Given the description of an element on the screen output the (x, y) to click on. 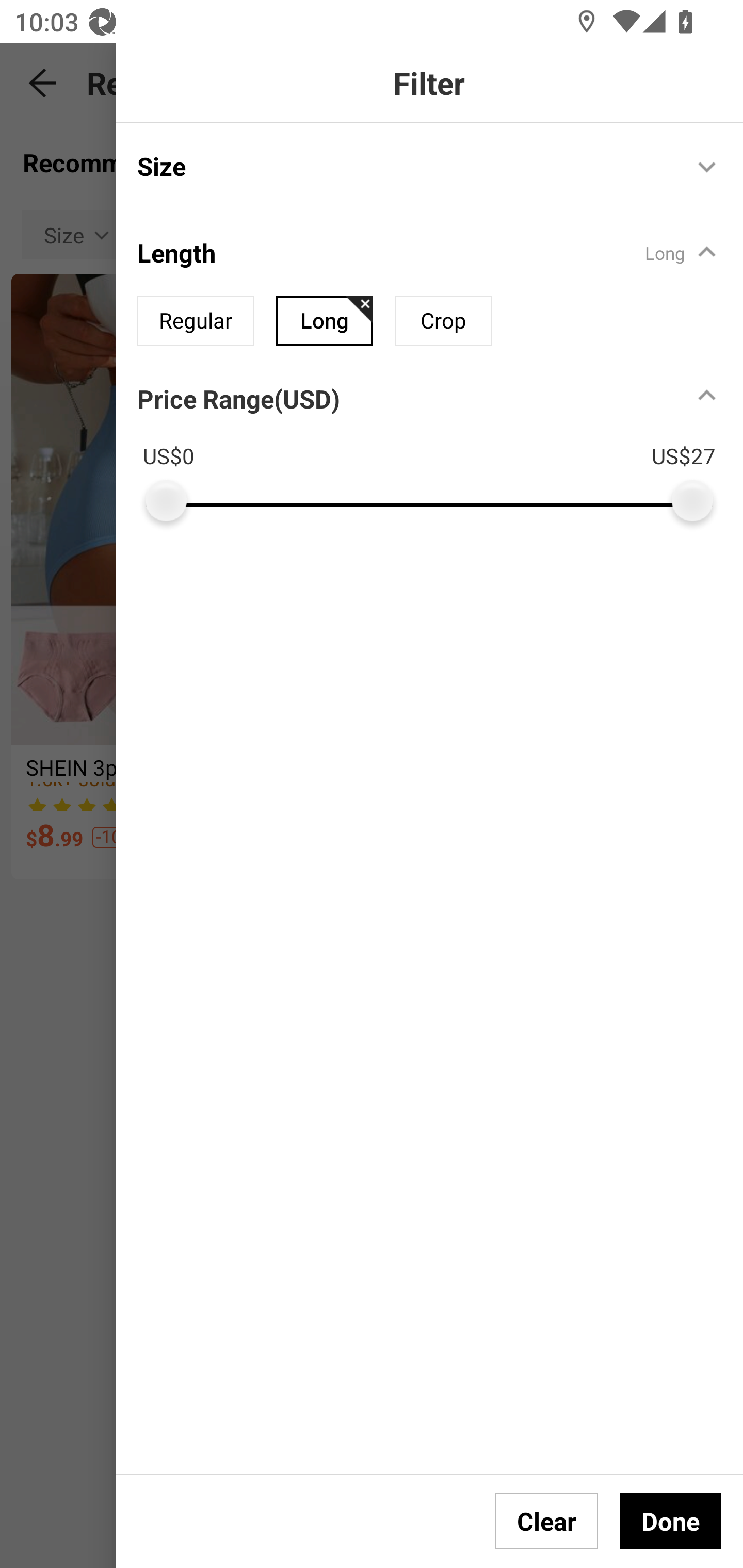
Size (403, 166)
Length (403, 252)
Regular (195, 320)
Long (323, 320)
Crop (442, 320)
Price Range(USD) US$0 US$27 (440, 443)
Price Range(USD) (238, 398)
Clear (546, 1520)
Done (670, 1520)
